Given the description of an element on the screen output the (x, y) to click on. 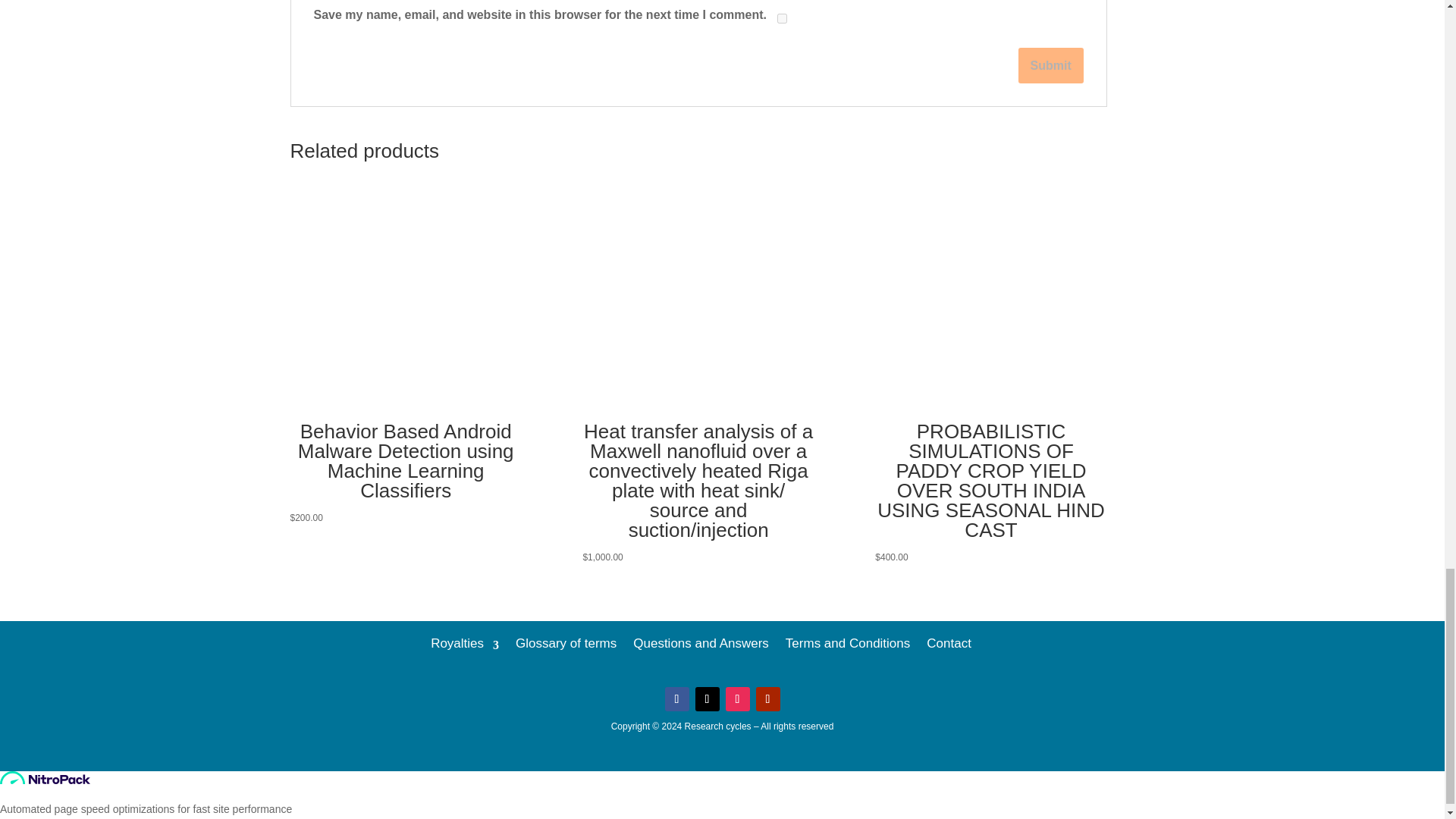
yes (782, 18)
Contact (948, 641)
Royalties (464, 641)
Terms and Conditions (848, 641)
Follow on X (706, 699)
Follow on Facebook (675, 699)
Follow on Youtube (766, 699)
Follow on Instagram (737, 699)
Submit (1050, 65)
Glossary of terms (565, 641)
